Given the description of an element on the screen output the (x, y) to click on. 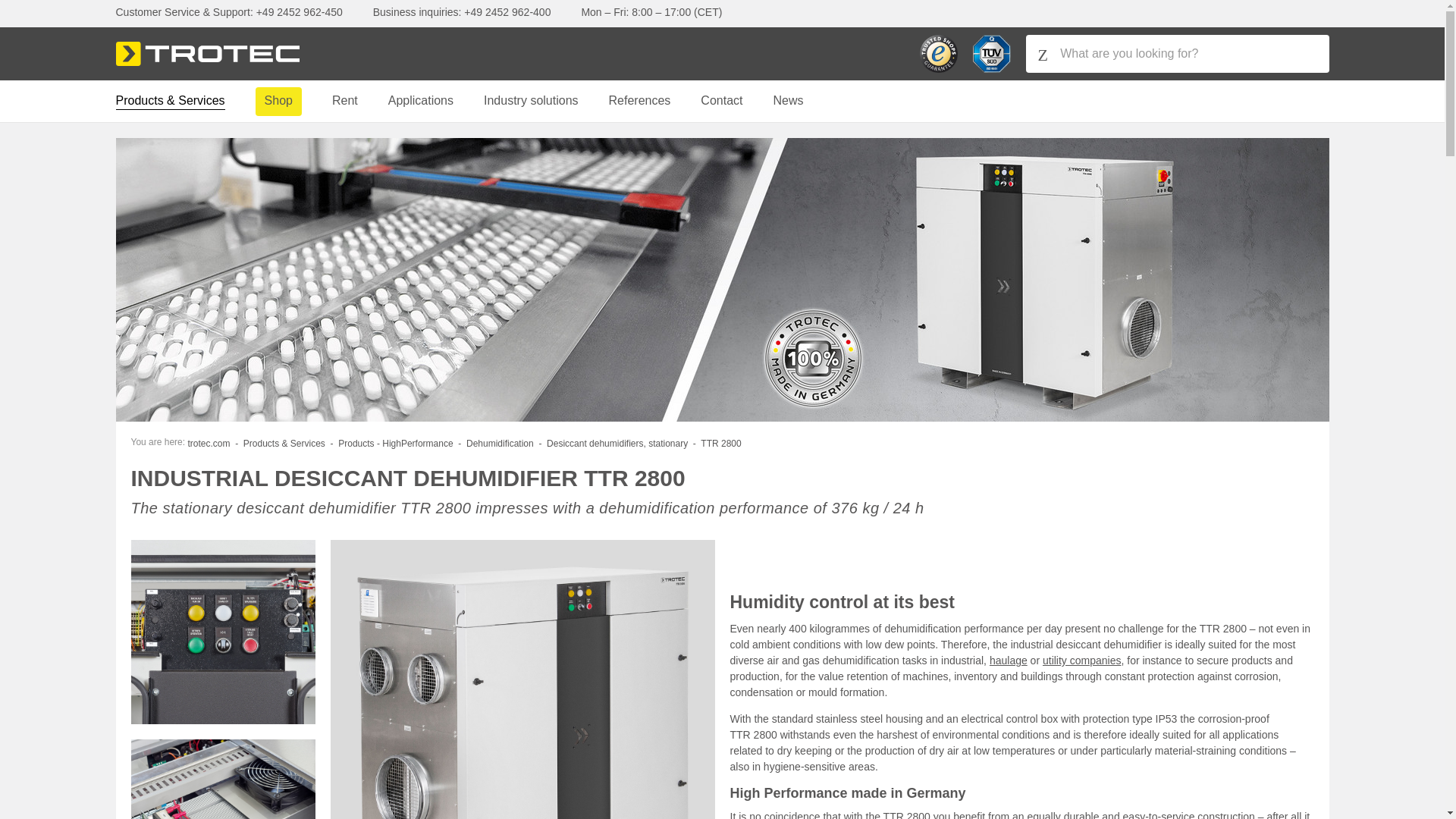
Rent (344, 100)
Applications (420, 100)
Industry solutions (530, 100)
Control cabinet integrated behind control panel (222, 631)
News (788, 100)
search (6, 6)
Climate conditioning for transport and logistics (1008, 660)
Trusted Shops (937, 53)
Shop (278, 100)
Contact (721, 100)
References (639, 100)
